Given the description of an element on the screen output the (x, y) to click on. 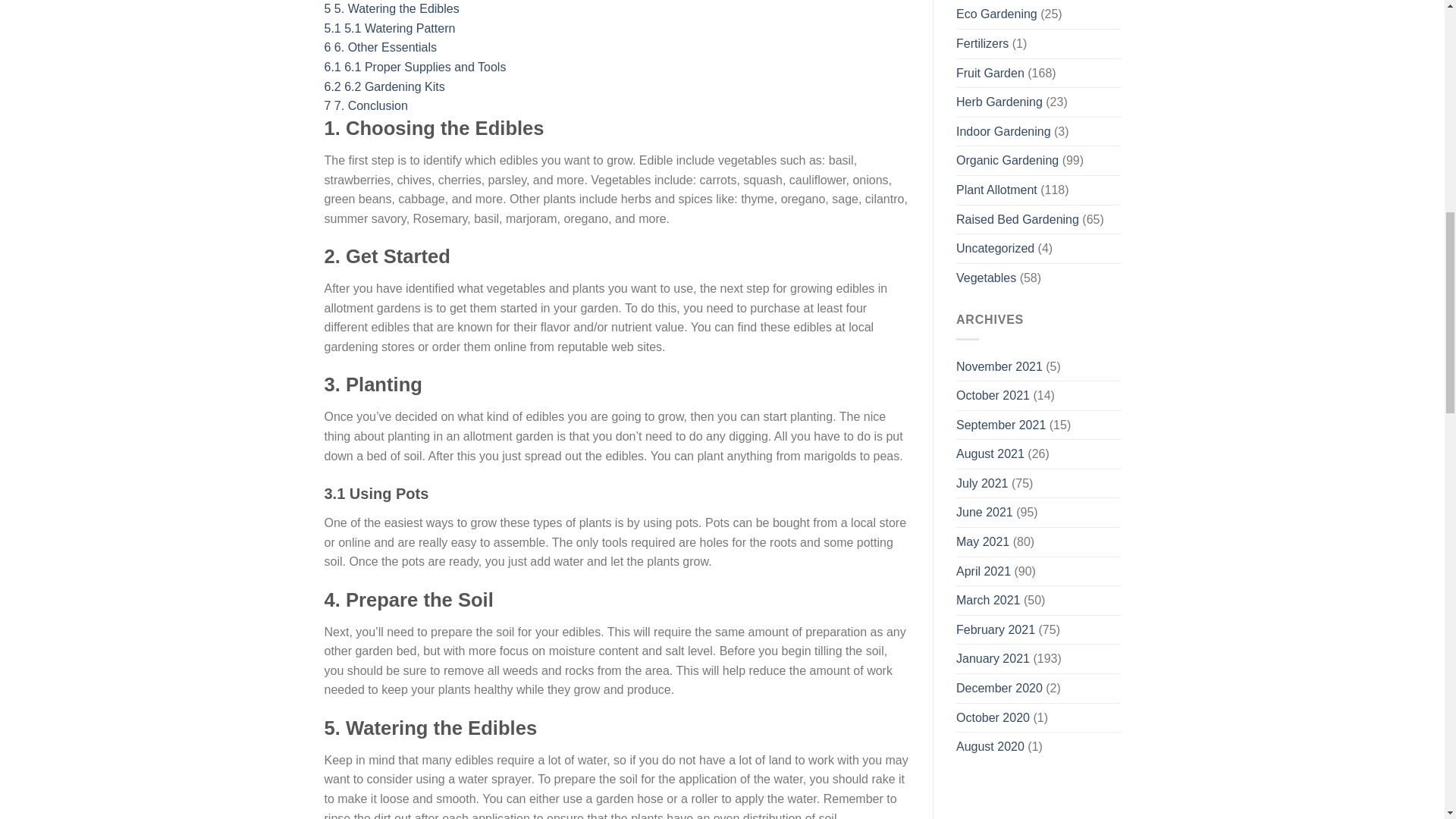
6 6. Other Essentials (381, 47)
5.1 5.1 Watering Pattern (389, 28)
6.2 6.2 Gardening Kits (384, 86)
5 5. Watering the Edibles (392, 8)
7 7. Conclusion (365, 105)
6.1 6.1 Proper Supplies and Tools (415, 66)
